Given the description of an element on the screen output the (x, y) to click on. 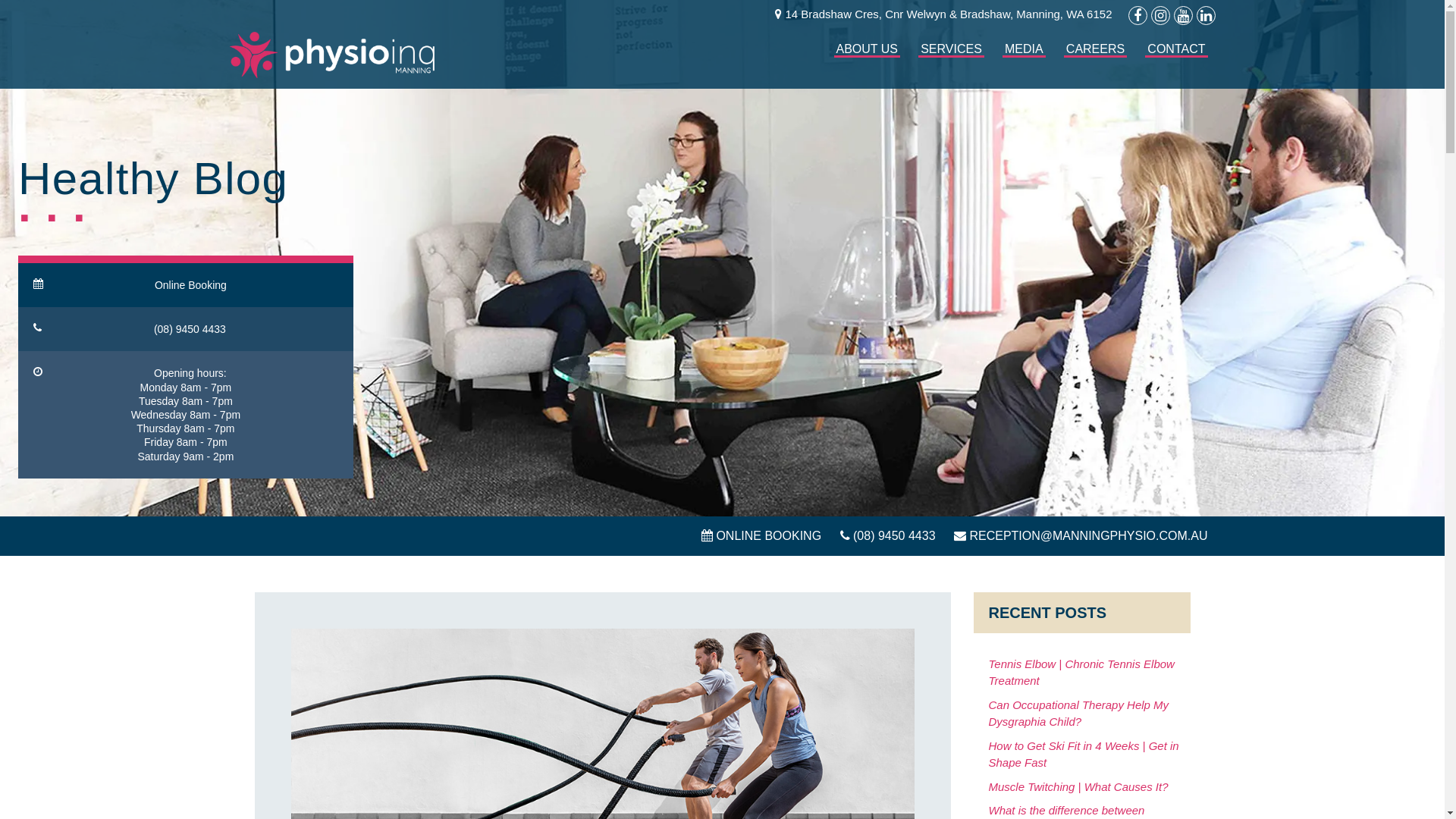
Muscle Twitching | What Causes It? Element type: text (1078, 786)
Tennis Elbow | Chronic Tennis Elbow Treatment Element type: text (1081, 672)
(08) 9450 4433 Element type: text (185, 329)
SERVICES Element type: text (950, 59)
Youtube Element type: hover (1182, 15)
RECEPTION@MANNINGPHYSIO.COM.AU Element type: text (1080, 535)
ONLINE BOOKING Element type: text (760, 535)
CAREERS Element type: text (1095, 59)
MEDIA Element type: text (1023, 59)
14 Bradshaw Cres, Cnr Welwyn & Bradshaw, Manning, WA 6152 Element type: text (943, 15)
Facebook Element type: hover (1137, 15)
ABOUT US Element type: text (867, 59)
Online Booking Element type: text (185, 281)
(08) 9450 4433 Element type: text (887, 535)
Instagram Element type: hover (1160, 15)
Can Occupational Therapy Help My Dysgraphia Child? Element type: text (1078, 713)
Linkedin Element type: hover (1205, 15)
How to Get Ski Fit in 4 Weeks | Get in Shape Fast Element type: text (1083, 754)
CONTACT Element type: text (1175, 59)
